Given the description of an element on the screen output the (x, y) to click on. 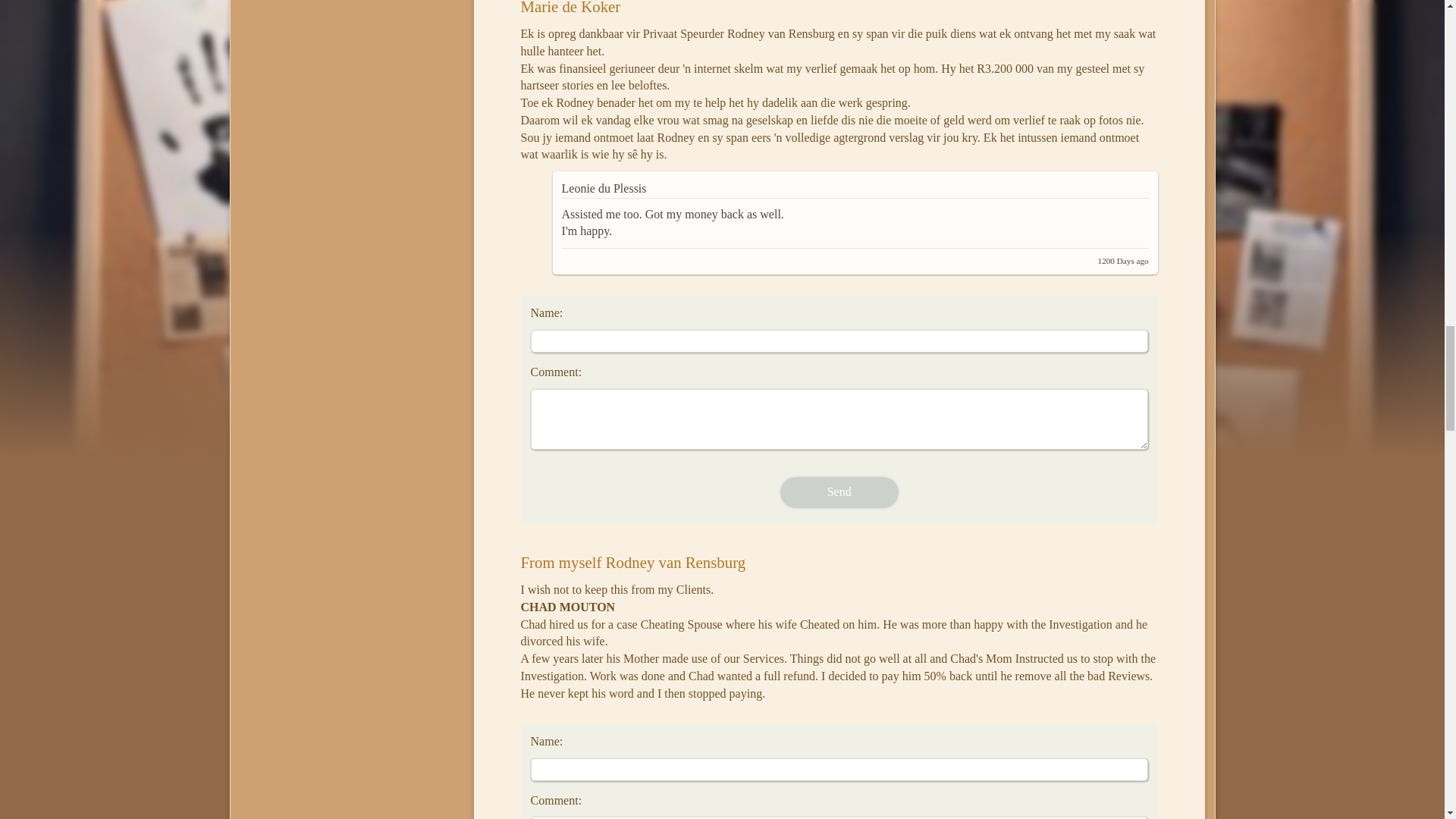
Send (838, 492)
Send (838, 492)
